Given the description of an element on the screen output the (x, y) to click on. 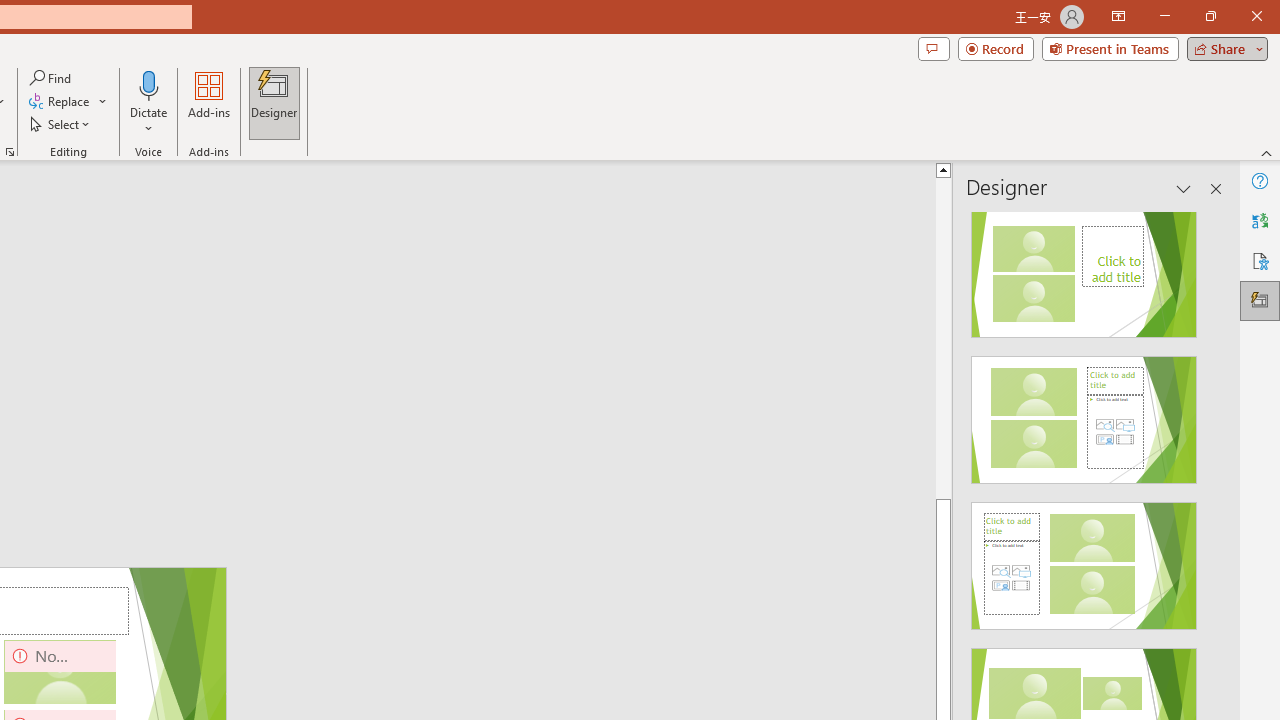
Camera 5, No camera detected. (59, 672)
